Given the description of an element on the screen output the (x, y) to click on. 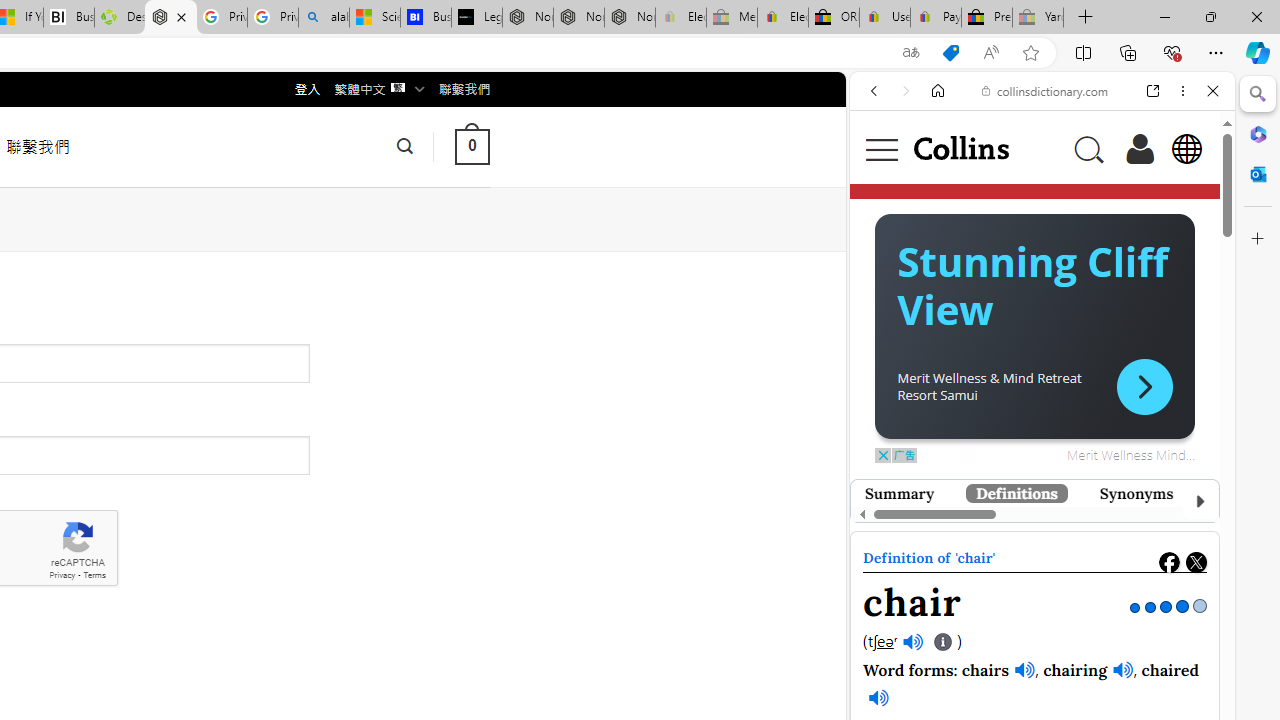
Class: ns-rrwcd-e-10 svg-anchor (1144, 385)
User Privacy Notice | eBay (885, 17)
Class: ns-vyjj0-e-3 image p9FadeIn (1034, 536)
